Given the description of an element on the screen output the (x, y) to click on. 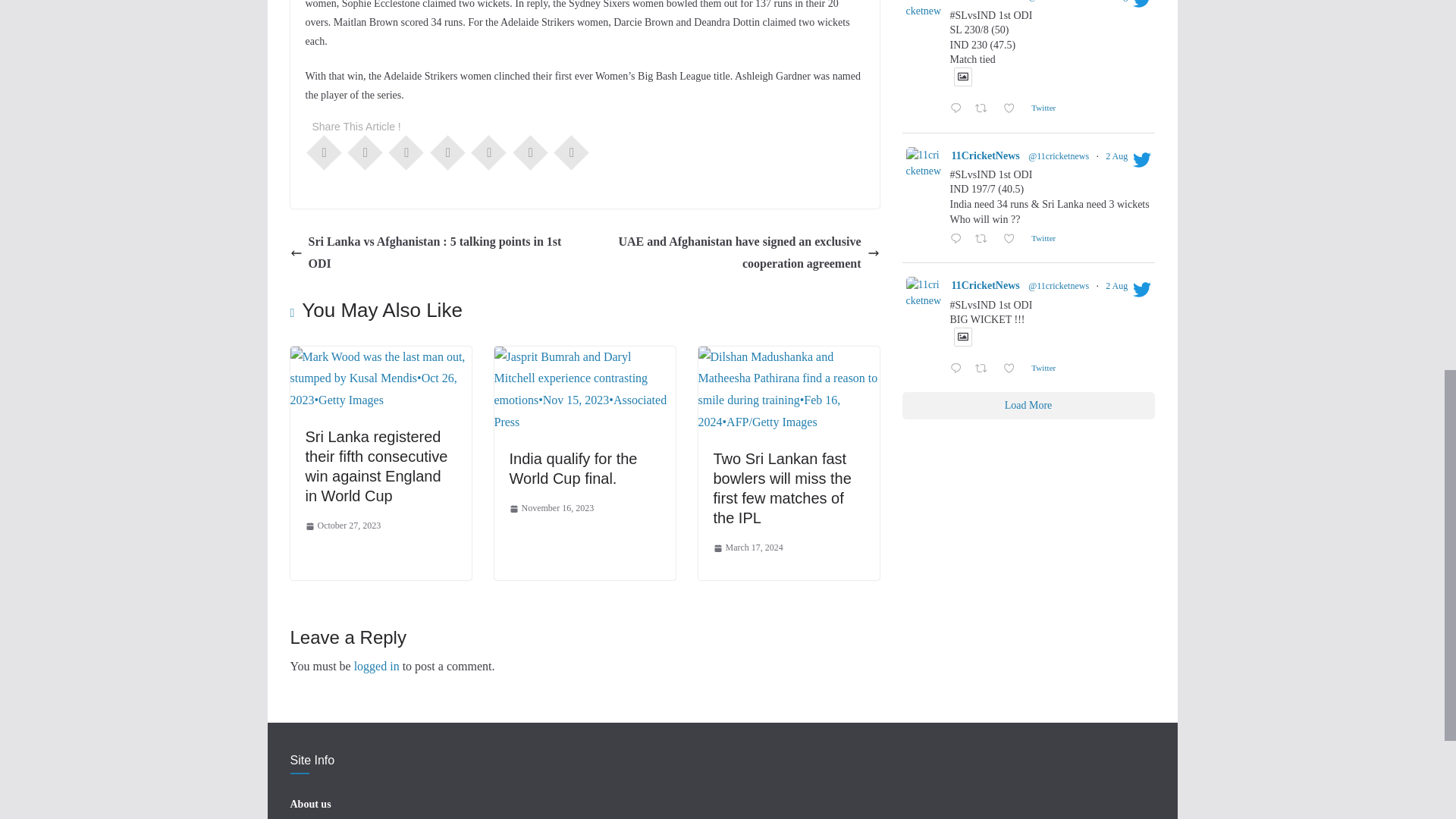
Share on Pinterest (406, 151)
Share on Twitter (365, 151)
Print (571, 151)
Share on LinkedIn (447, 151)
Share it on Email (530, 151)
Share on Facebook (323, 151)
Share on Digg (488, 151)
Sri Lanka vs Afghanistan : 5 talking points in 1st ODI (432, 252)
